Given the description of an element on the screen output the (x, y) to click on. 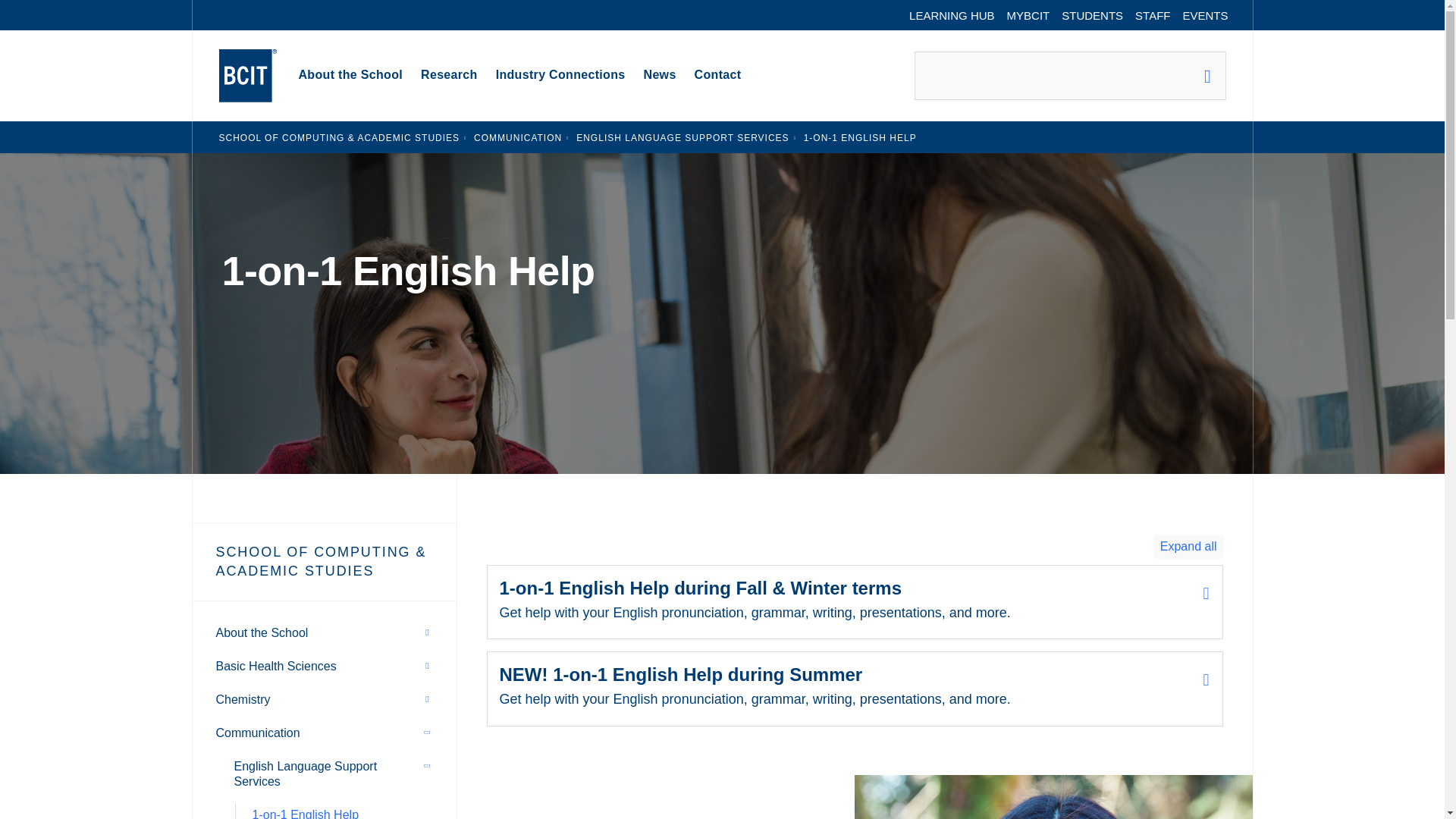
1-ON-1 ENGLISH HELP (860, 137)
Contact (718, 75)
Basic Health Sciences (275, 666)
STUDENTS (1092, 15)
About the School (350, 75)
LEARNING HUB (951, 15)
EVENTS (1204, 15)
Industry Connections (560, 75)
ENGLISH LANGUAGE SUPPORT SERVICES (682, 137)
About the School (261, 633)
1-on-1 English Help (860, 137)
Research (448, 75)
English Language Support Services (682, 137)
MYBCIT (1029, 15)
STAFF (1152, 15)
